Given the description of an element on the screen output the (x, y) to click on. 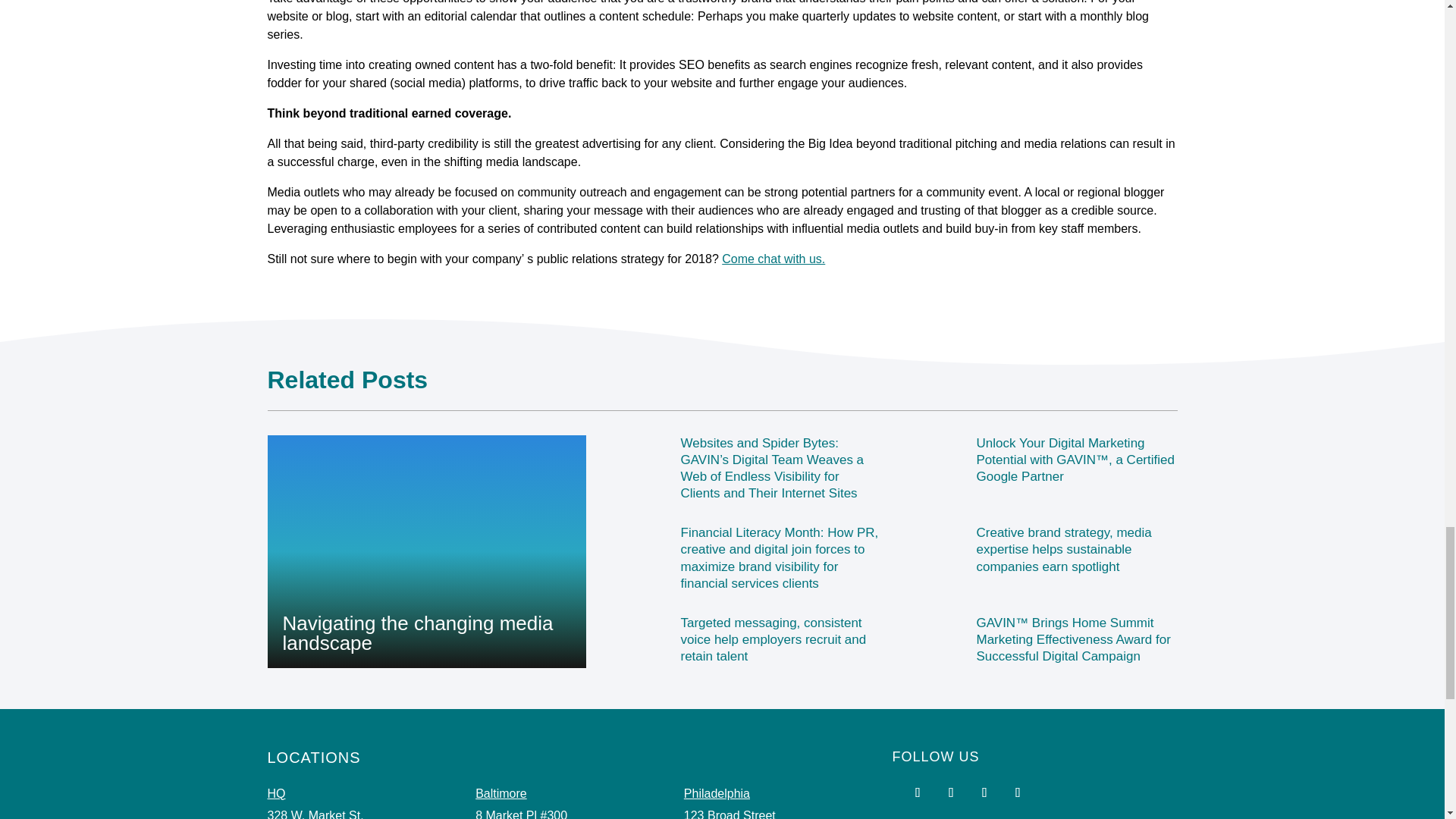
Follow on Youtube (950, 791)
Follow on Instagram (984, 791)
Follow on LinkedIn (1017, 791)
Follow on Facebook (917, 791)
